Given the description of an element on the screen output the (x, y) to click on. 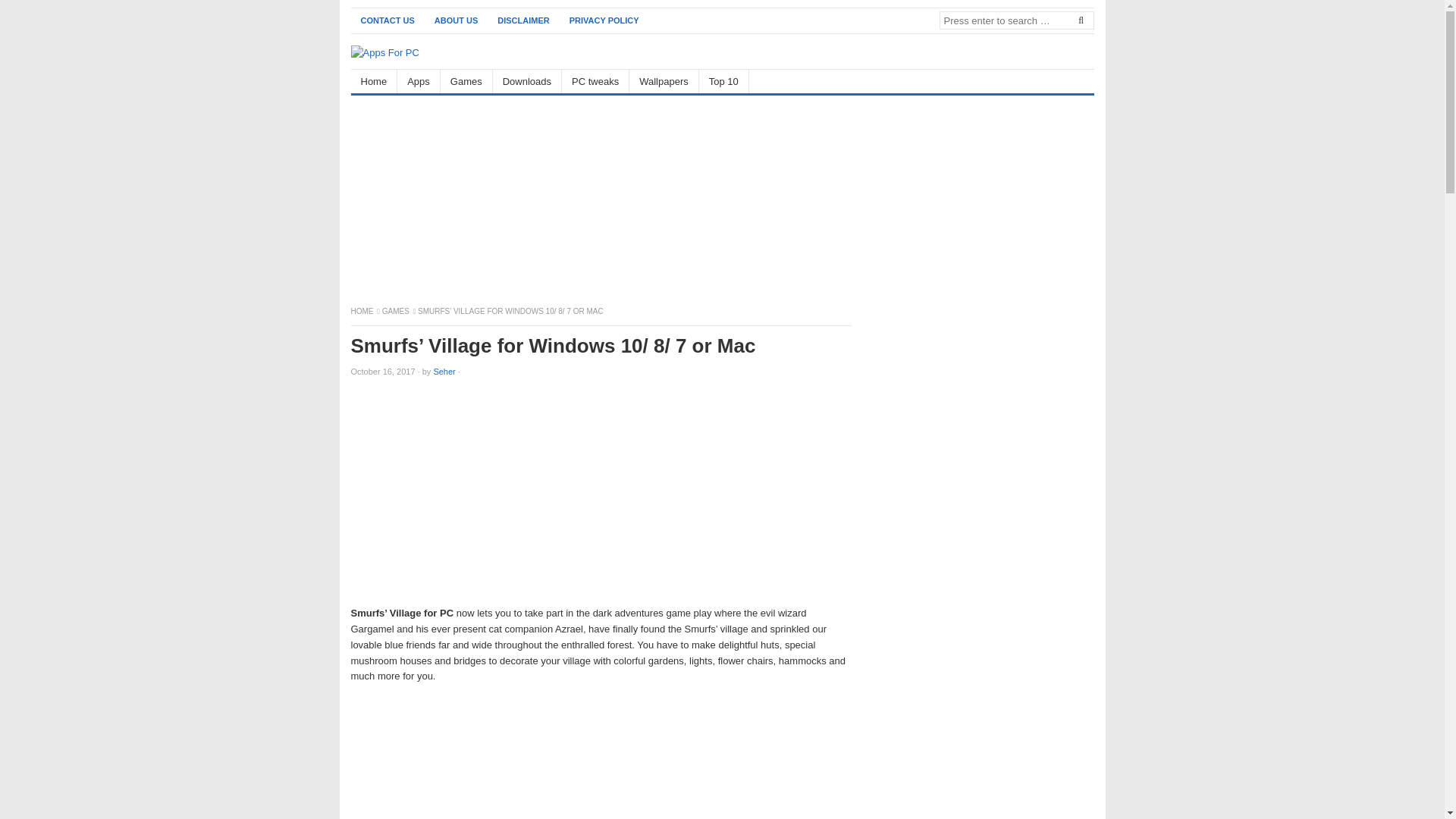
GAMES (395, 311)
PC tweaks (595, 81)
Search for: (1016, 20)
PRIVACY POLICY (604, 20)
Advertisement (979, 817)
Wallpapers (663, 81)
Apps For PC (362, 311)
Advertisement (600, 757)
DISCLAIMER (523, 20)
Apps (419, 81)
